Given the description of an element on the screen output the (x, y) to click on. 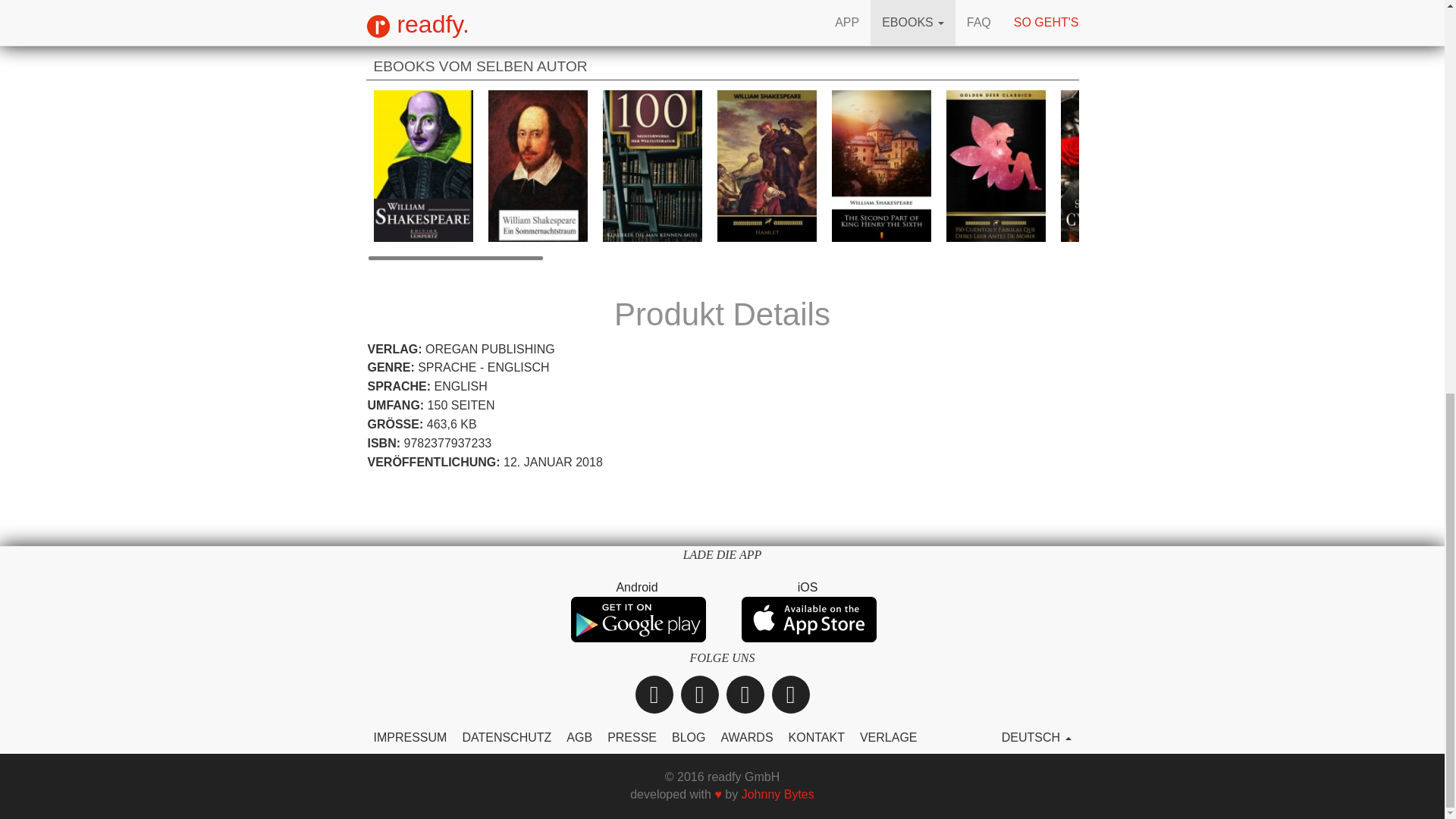
EBOOKS VOM SELBEN AUTOR (721, 63)
